Given the description of an element on the screen output the (x, y) to click on. 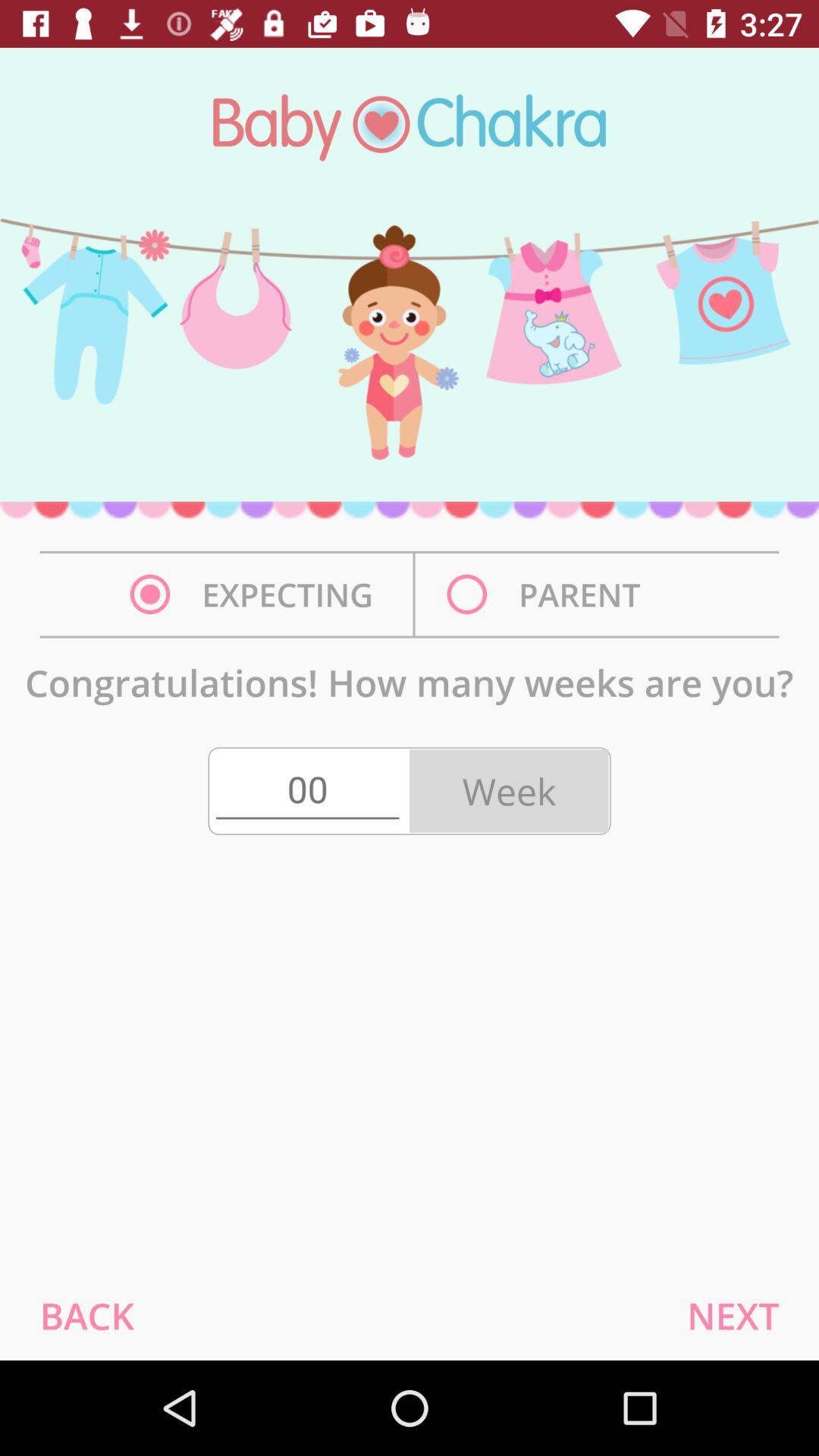
open the next icon (733, 1315)
